Given the description of an element on the screen output the (x, y) to click on. 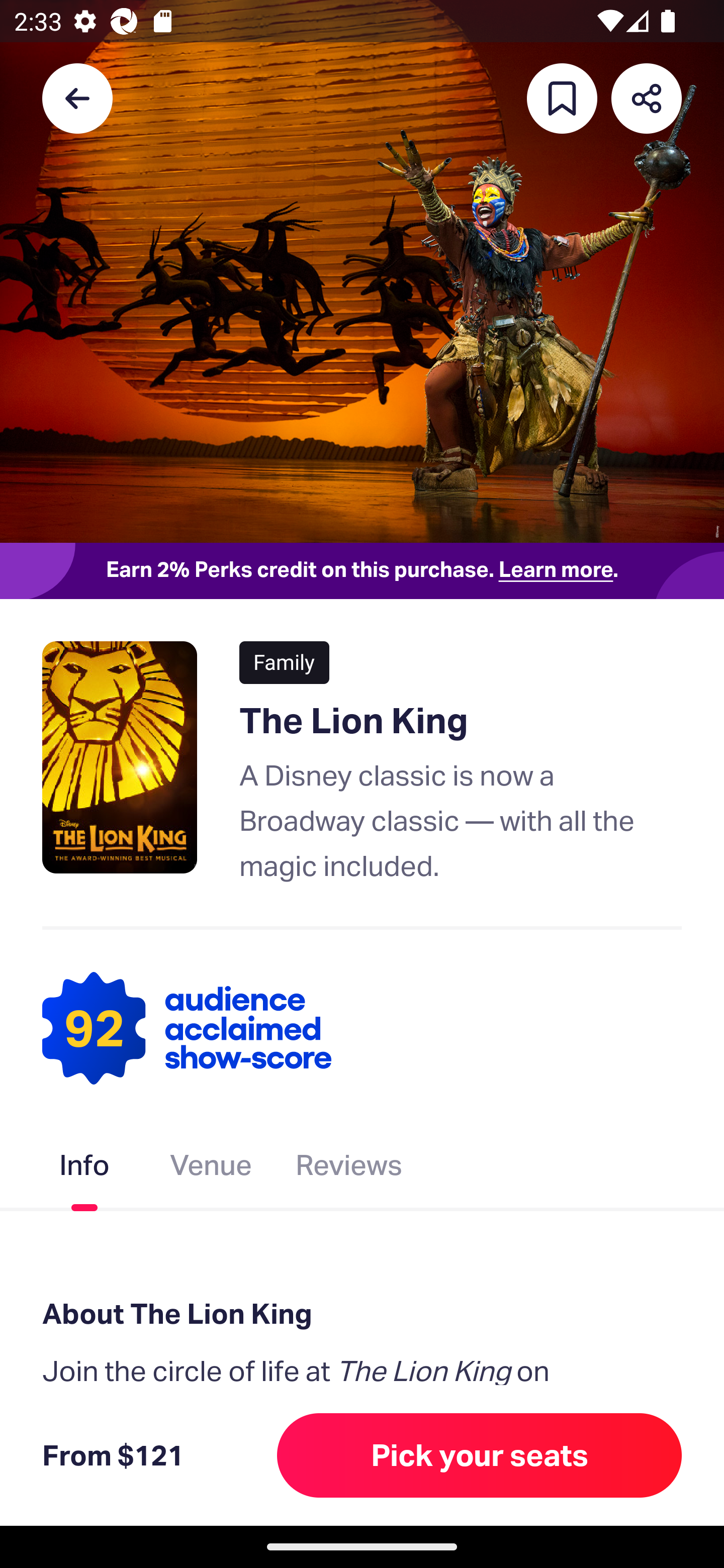
Earn 2% Perks credit on this purchase. Learn more. (362, 570)
Venue (210, 1168)
Reviews (348, 1168)
About The Lion King (361, 1313)
Pick your seats (479, 1454)
